Given the description of an element on the screen output the (x, y) to click on. 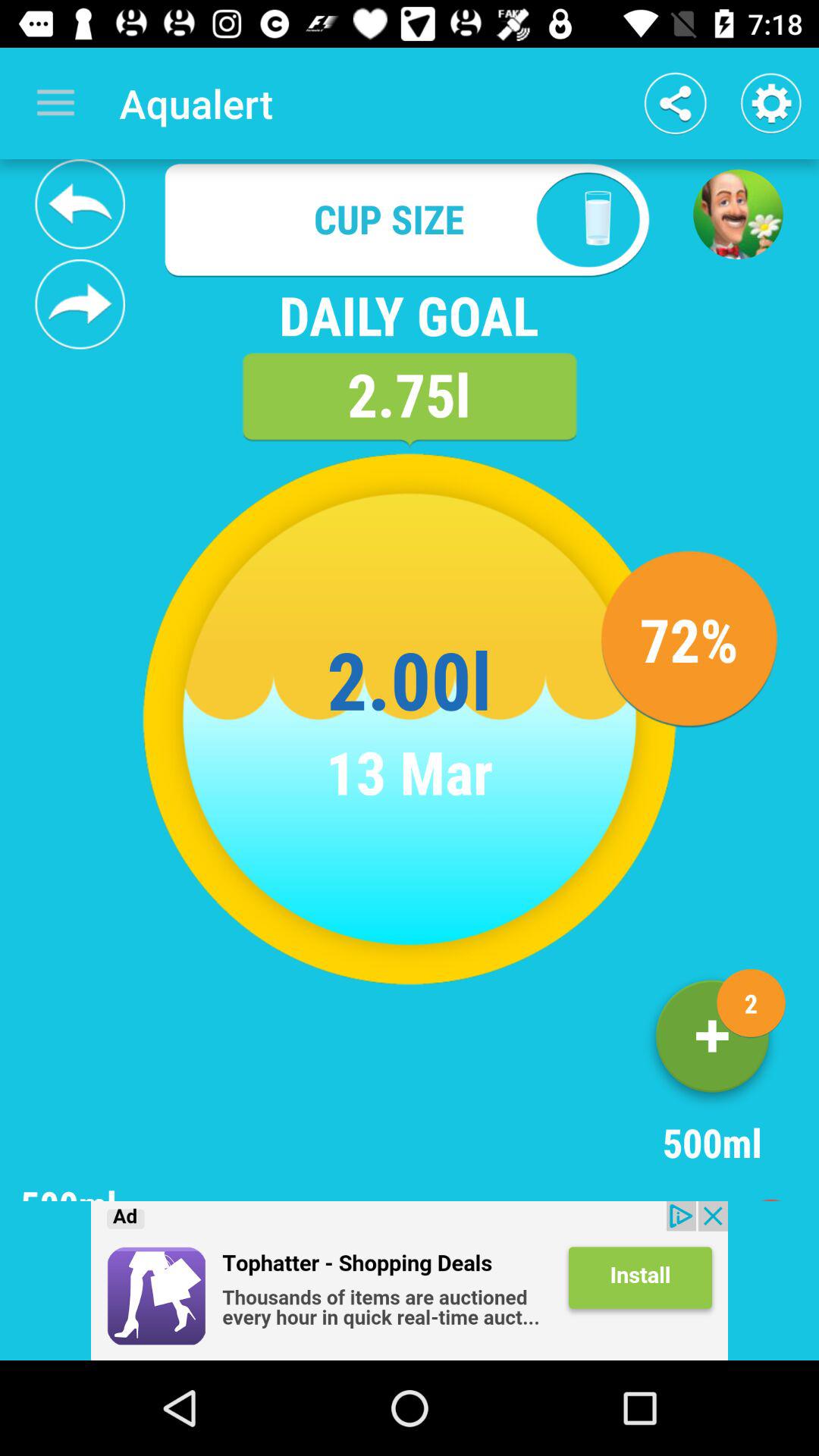
view advertisement (409, 1280)
